Given the description of an element on the screen output the (x, y) to click on. 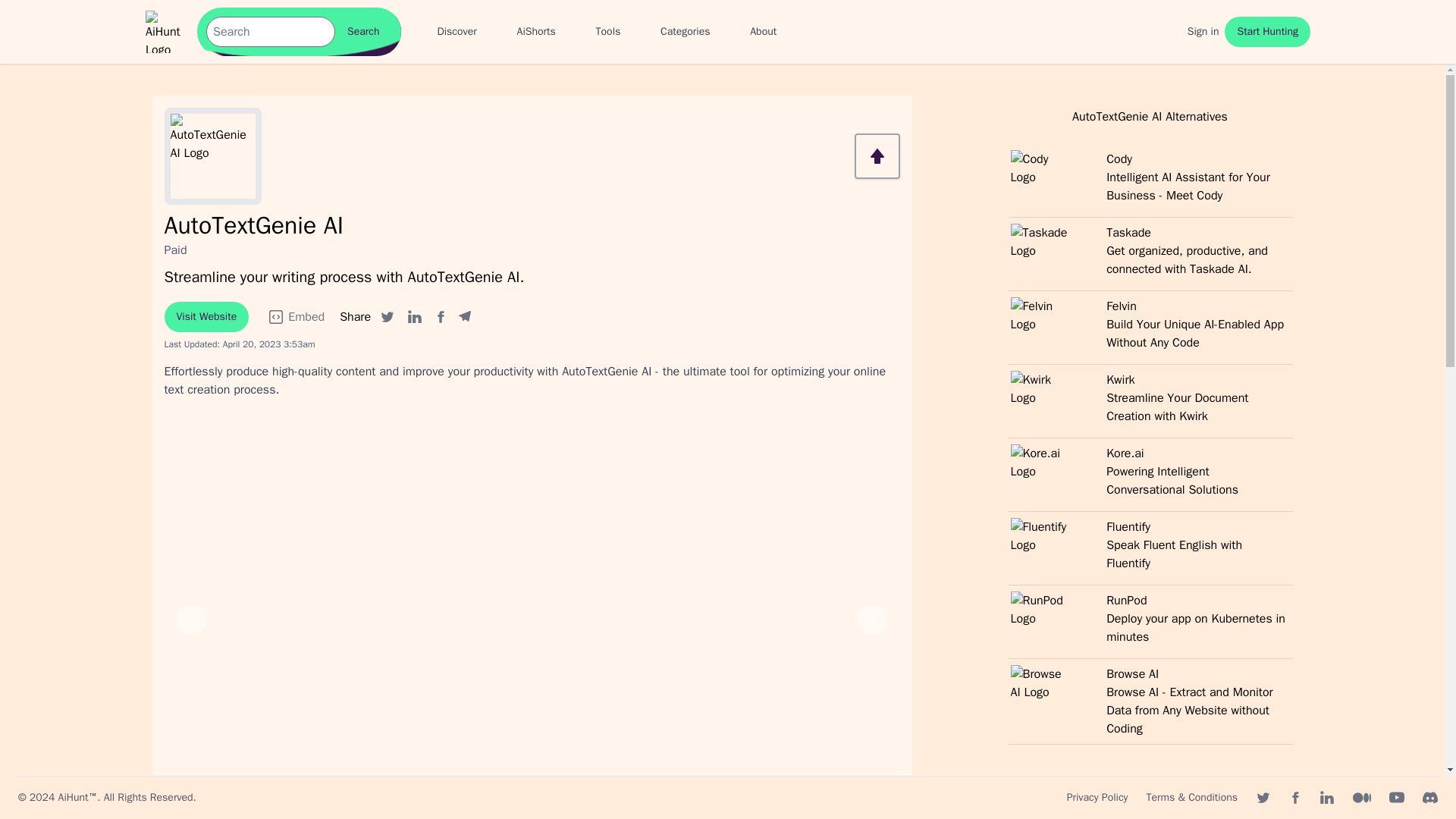
Embed (295, 316)
AiShorts (536, 31)
Telegram share (464, 316)
Start Hunting (1267, 31)
Facebook share (1149, 547)
Categories (439, 316)
Linkedin share (684, 31)
Search (414, 316)
Search (362, 31)
Visit Website (362, 31)
About (205, 317)
